Given the description of an element on the screen output the (x, y) to click on. 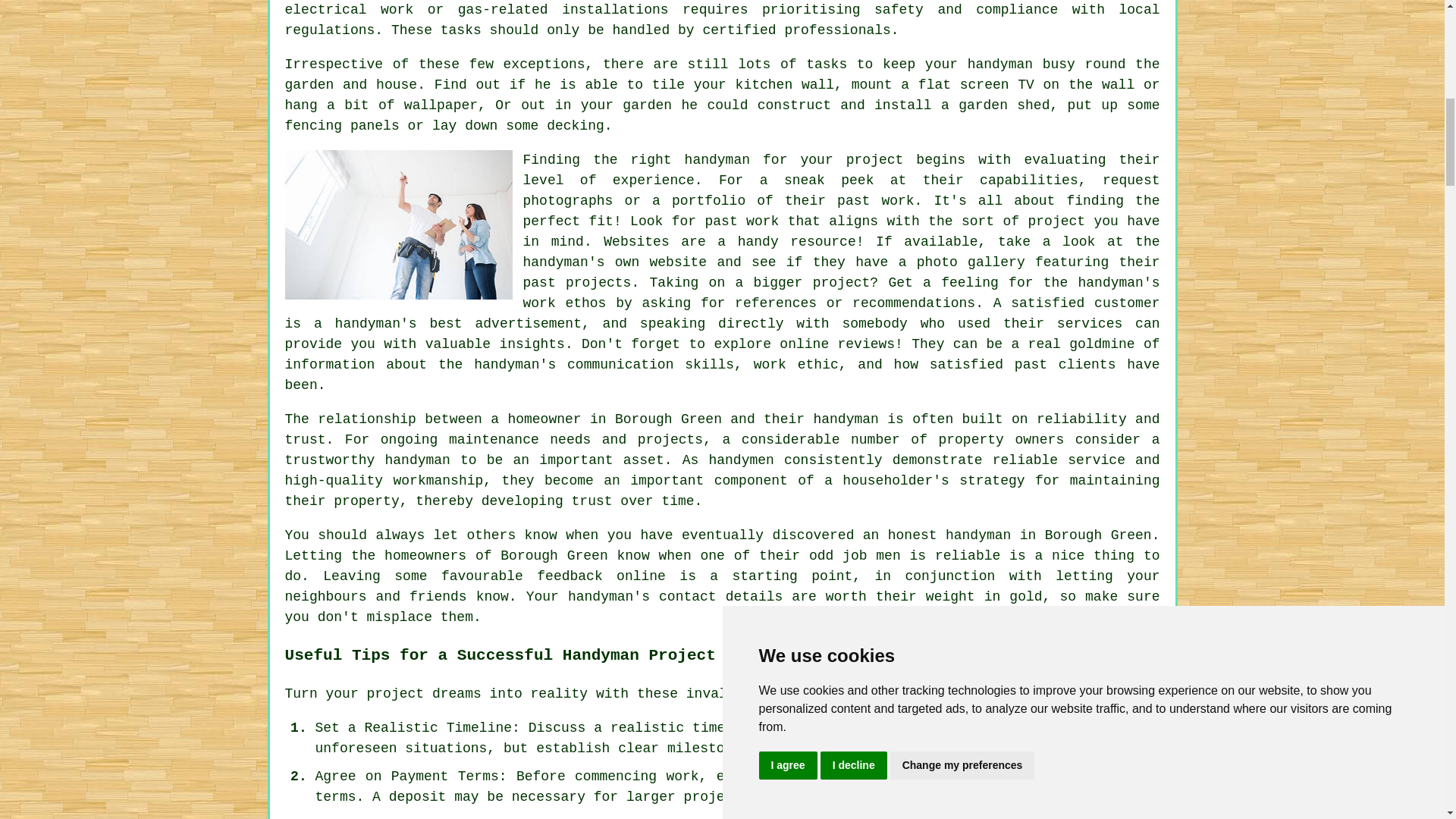
handyman's (515, 364)
handyman (716, 159)
handyman (1000, 64)
handyman (844, 418)
